Given the description of an element on the screen output the (x, y) to click on. 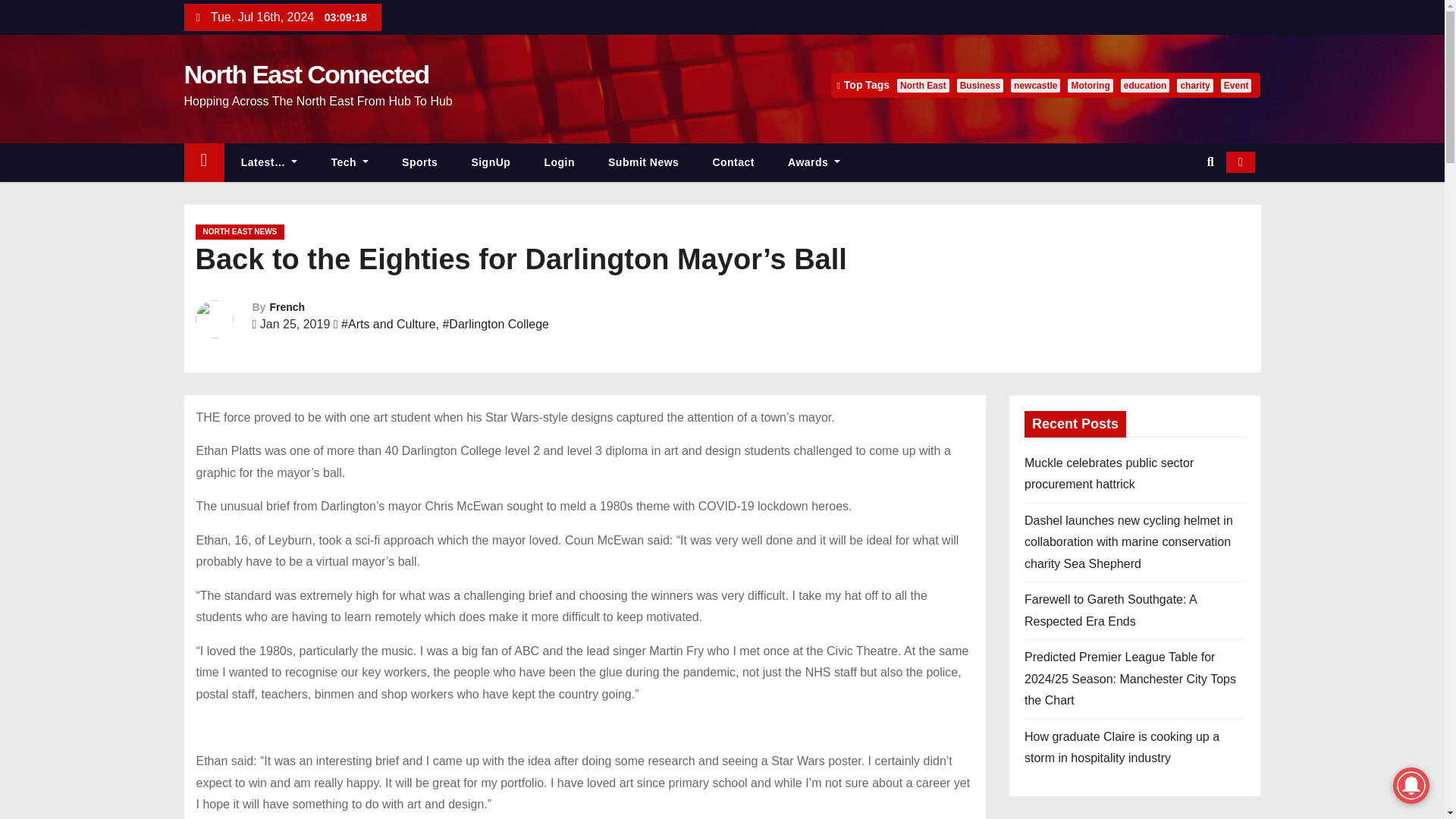
Contact (733, 162)
French (286, 306)
NORTH EAST NEWS (240, 231)
Home (203, 162)
Event (1236, 85)
SignUp (490, 162)
Submit News (643, 162)
Tech (349, 162)
charity (1194, 85)
Login (559, 162)
North East Connected (305, 73)
SignUp (490, 162)
Contact (733, 162)
Tech (349, 162)
newcastle (1034, 85)
